Given the description of an element on the screen output the (x, y) to click on. 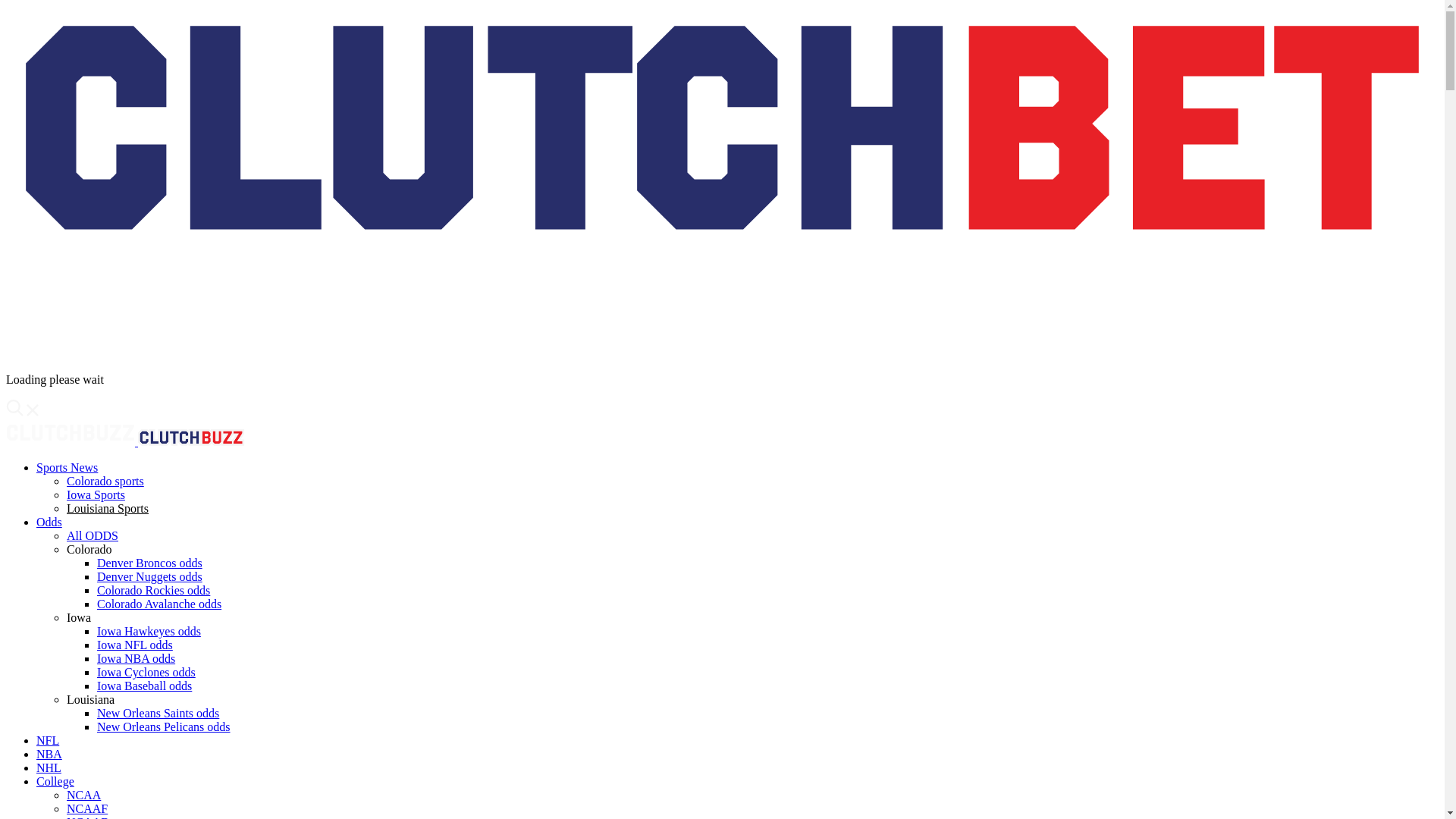
logo (191, 440)
NHL (48, 767)
Louisiana (90, 698)
Denver Broncos odds (149, 562)
Denver Nuggets odds (149, 576)
NCAAF (86, 808)
Iowa Hawkeyes odds (148, 631)
Colorado (89, 549)
Colorado Rockies odds (153, 590)
Iowa (78, 617)
NCAAB (87, 817)
Odds (49, 521)
College (55, 780)
Iowa Cyclones odds (146, 671)
Louisiana Sports (107, 508)
